Given the description of an element on the screen output the (x, y) to click on. 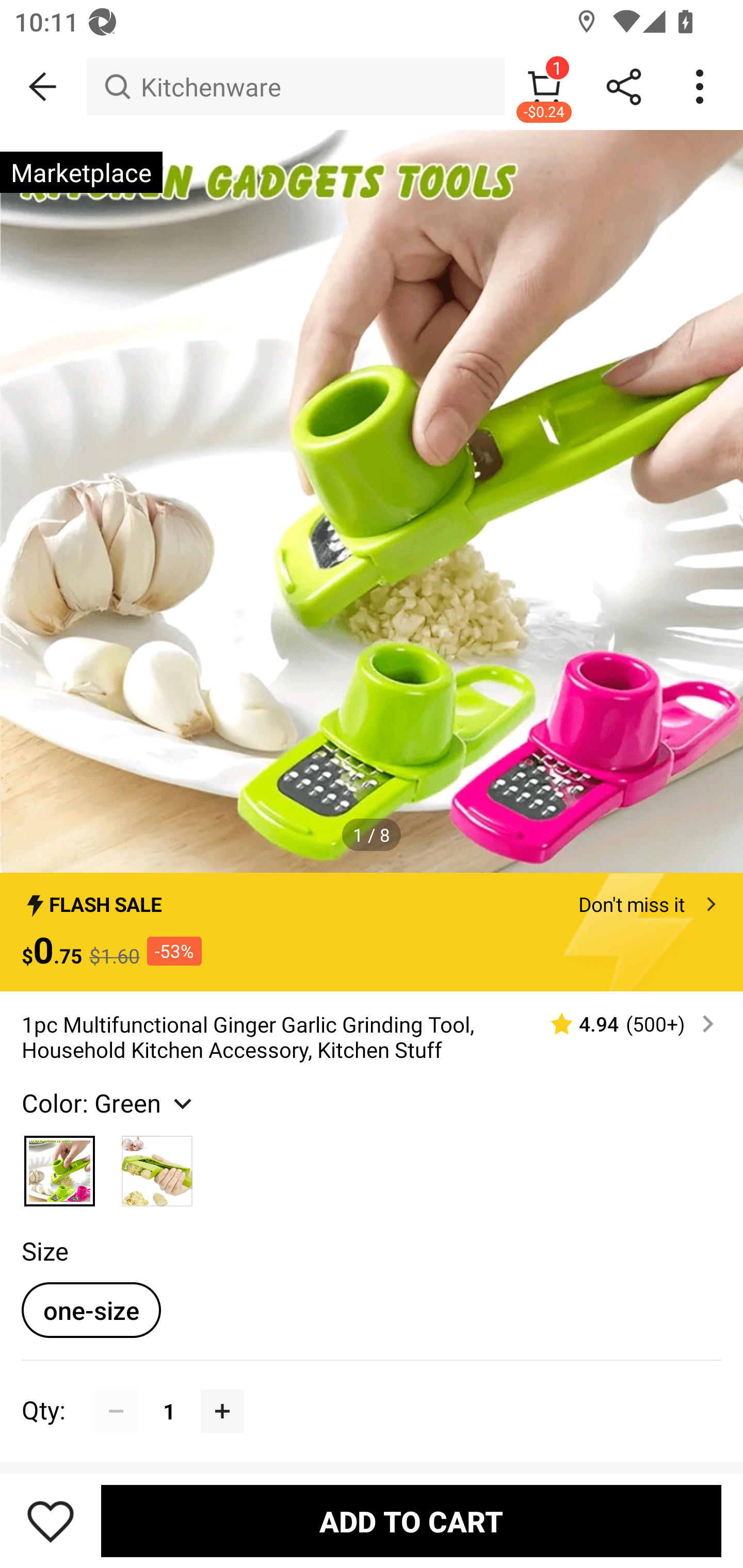
BACK (43, 86)
1 -$0.24 (543, 87)
Kitchenware (295, 87)
PHOTOS Marketplace 1 / 8 (371, 501)
1 / 8 (371, 834)
FLASH SALE Don't miss it $0.75 $1.60 -53% (371, 931)
FLASH SALE Don't miss it (371, 899)
4.94 (500‎+) (623, 1023)
Color: Green (108, 1102)
Green (59, 1165)
Green (156, 1165)
Size (44, 1251)
one-size one-sizeselected option (91, 1309)
Qty: 1 (371, 1389)
ADD TO CART (411, 1520)
Save (50, 1520)
